Given the description of an element on the screen output the (x, y) to click on. 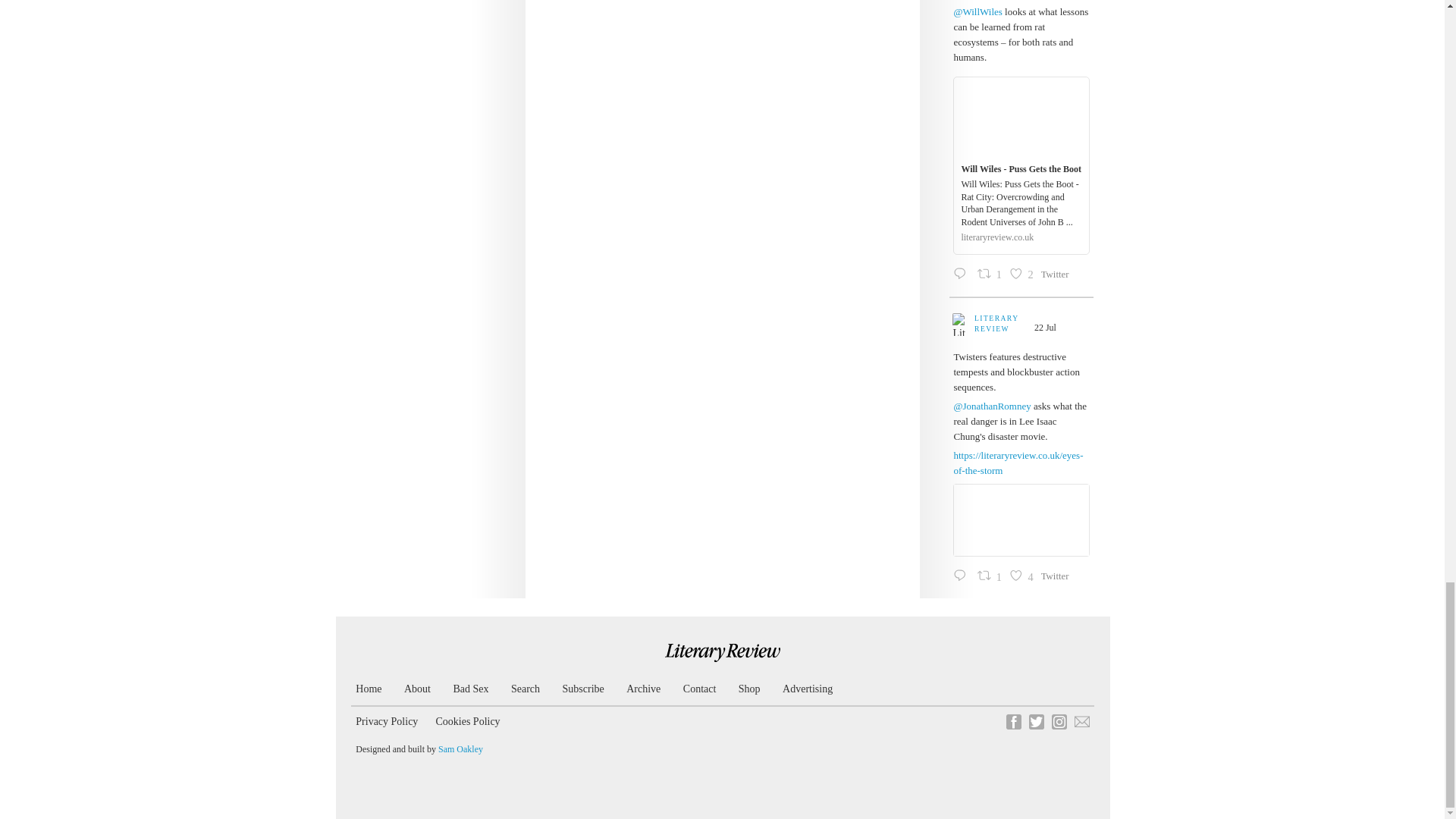
Twitter (1036, 721)
Instagram (1059, 721)
email (1081, 721)
Facebook (1014, 721)
